Given the description of an element on the screen output the (x, y) to click on. 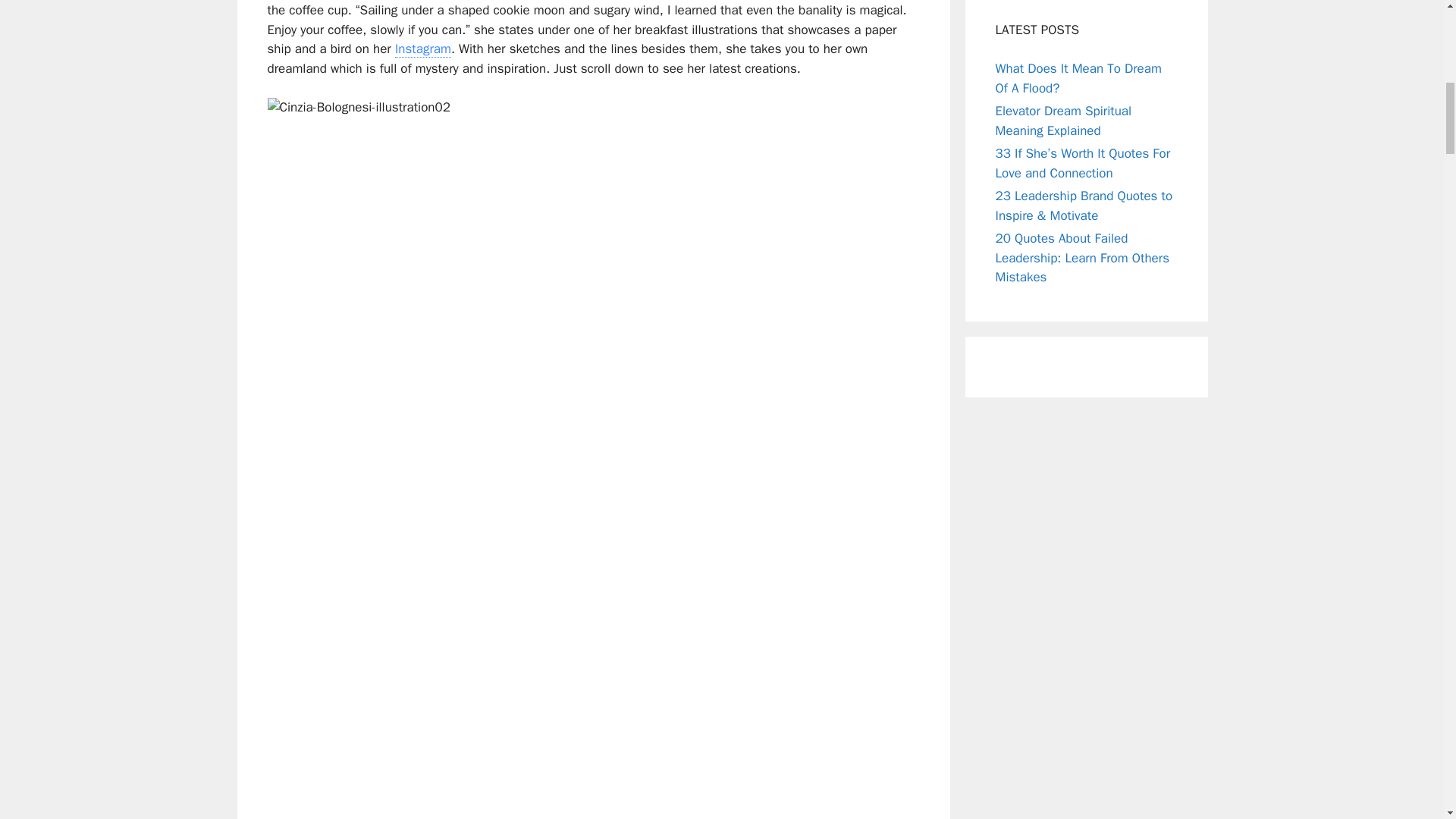
What Does It Mean To Dream Of A Flood? (1077, 78)
Elevator Dream Spiritual Meaning Explained (1062, 120)
Instagram (422, 48)
